Given the description of an element on the screen output the (x, y) to click on. 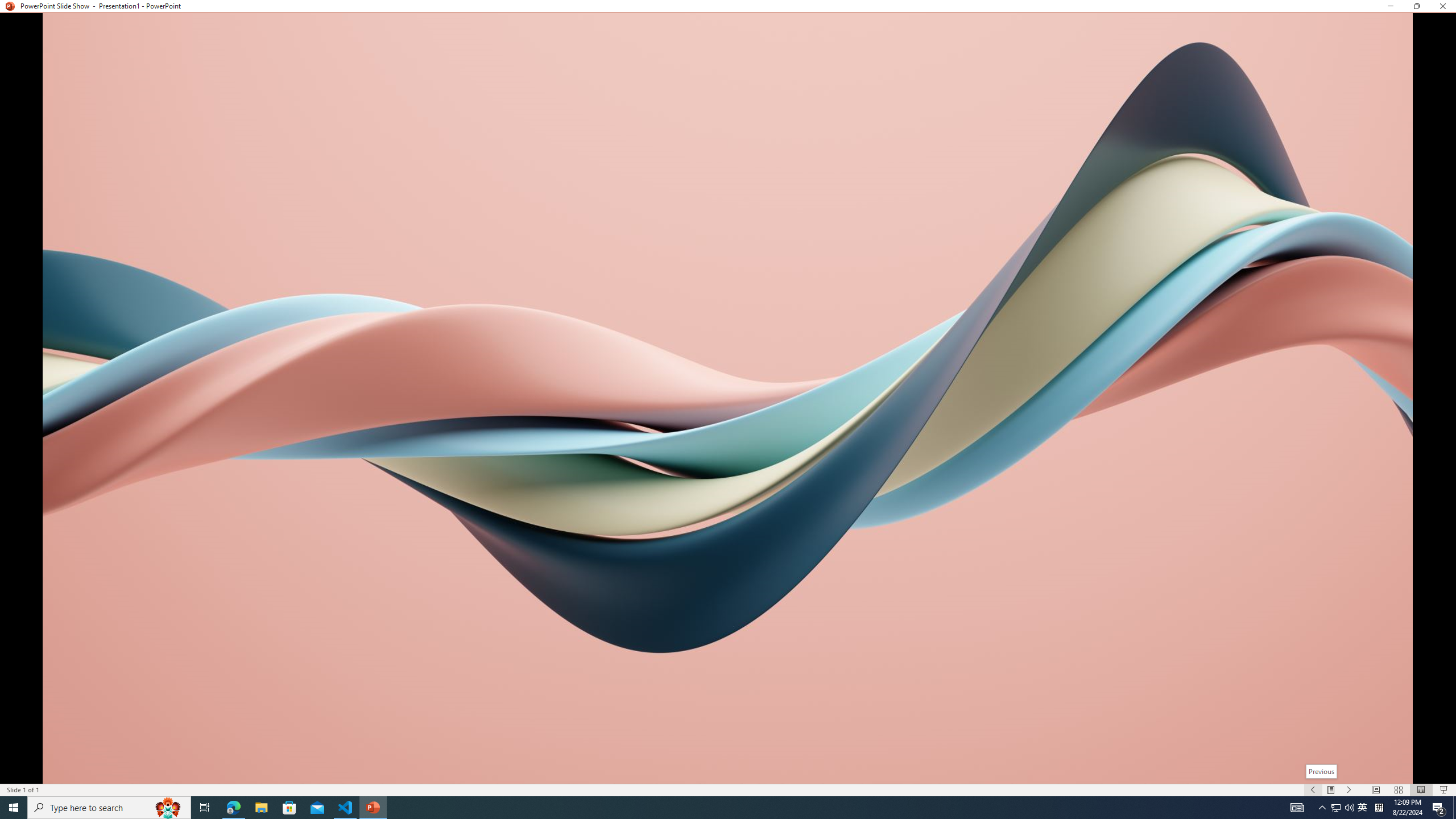
Slide Show Next On (1349, 790)
Menu On (1331, 790)
Previous (1321, 771)
Slide Show Previous On (1313, 790)
Class: MsoCommandBar (728, 789)
